Given the description of an element on the screen output the (x, y) to click on. 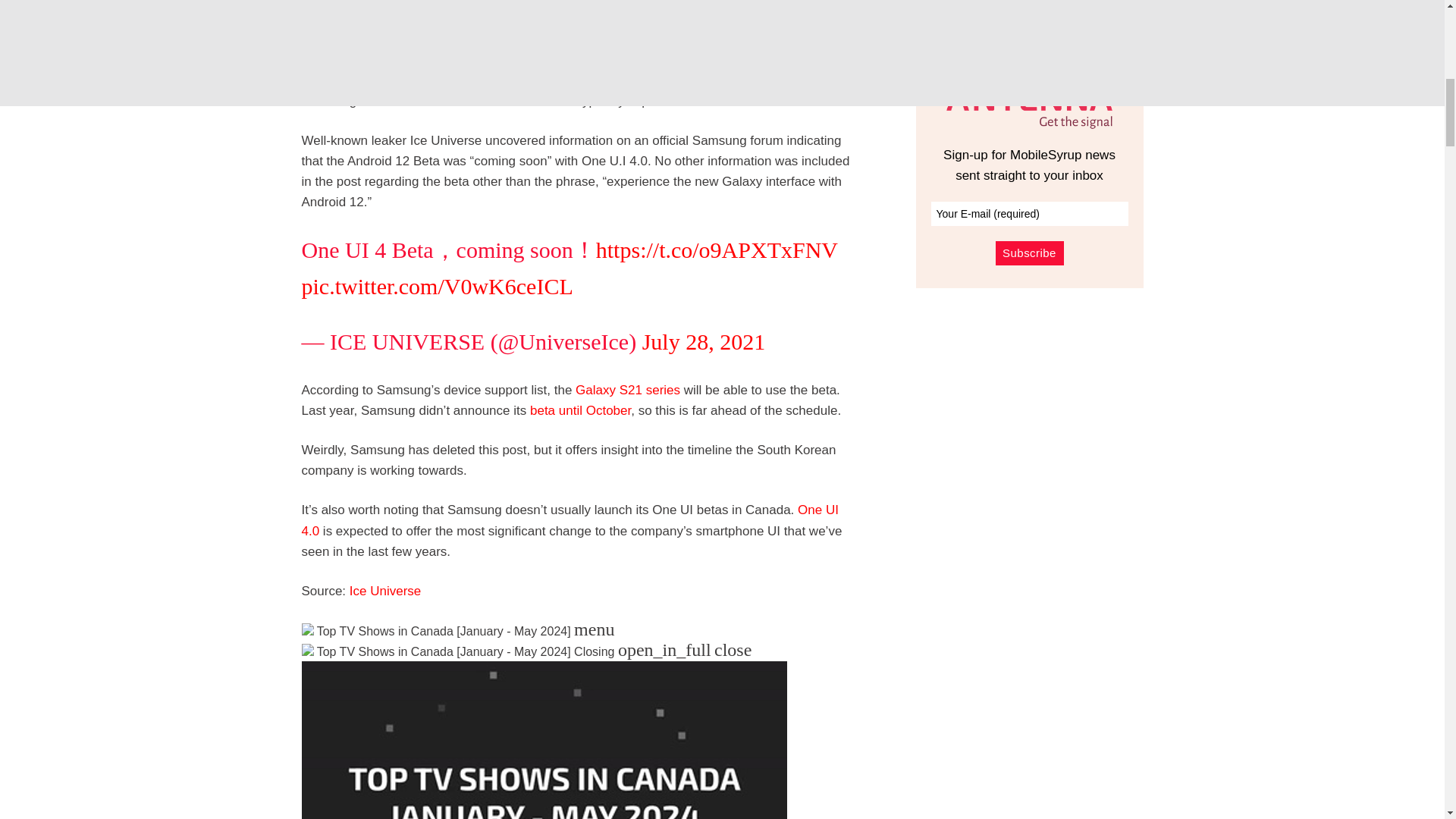
Subscribe (1028, 252)
